Given the description of an element on the screen output the (x, y) to click on. 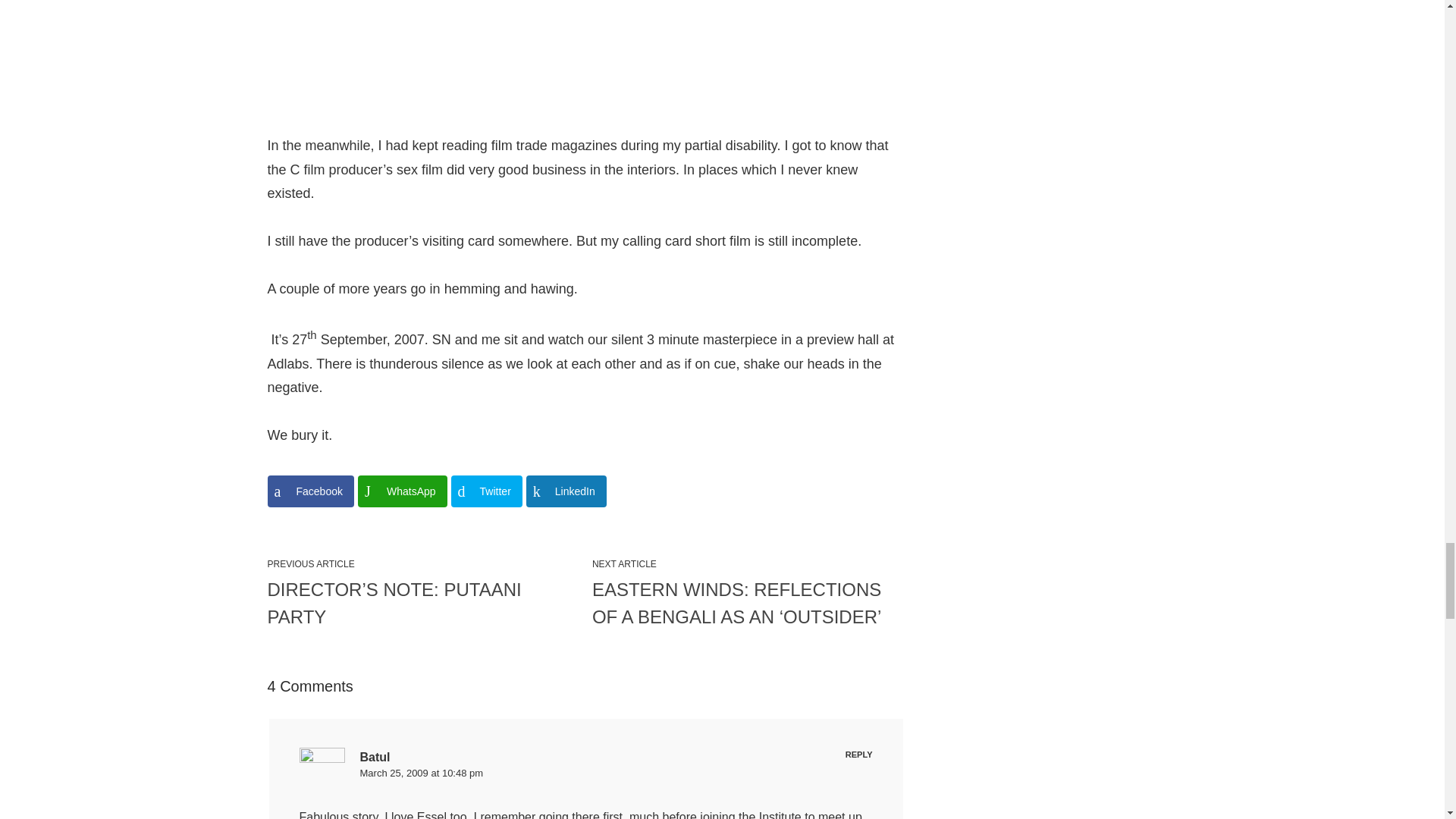
Share on WhatsApp (402, 490)
REPLY (858, 755)
Batul (374, 757)
WhatsApp (402, 490)
Twitter (486, 490)
LinkedIn (566, 490)
Facebook (309, 490)
March 25, 2009 at 10:48 pm (421, 772)
Share on Facebook (309, 490)
